Given the description of an element on the screen output the (x, y) to click on. 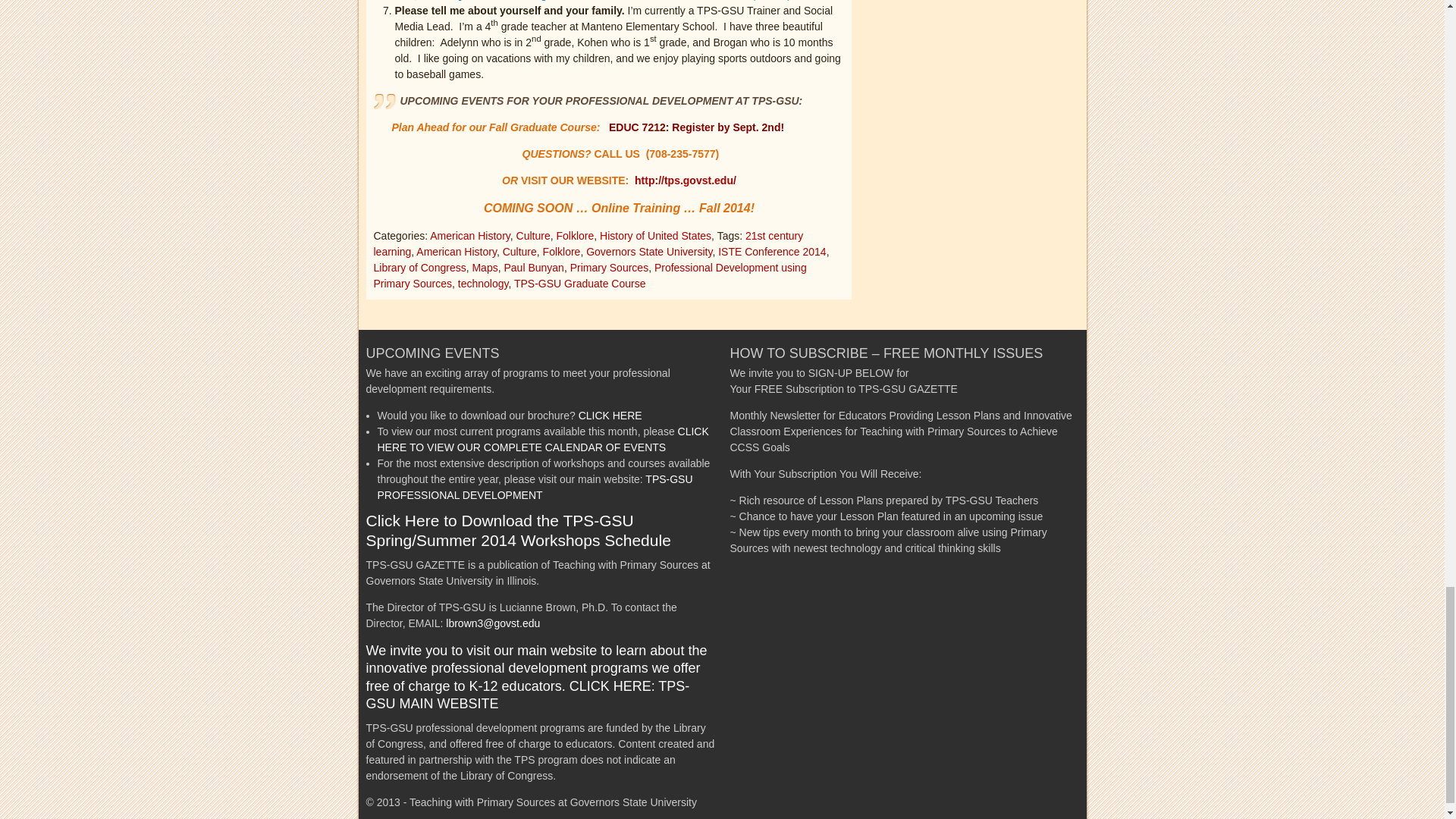
Culture (519, 251)
Governors State University (648, 251)
Culture (533, 235)
View all posts in Culture (533, 235)
History of United States (655, 235)
Paul Bunyan (533, 267)
Maps (484, 267)
View all posts in Folklore (575, 235)
Folklore (575, 235)
American History (456, 251)
